Given the description of an element on the screen output the (x, y) to click on. 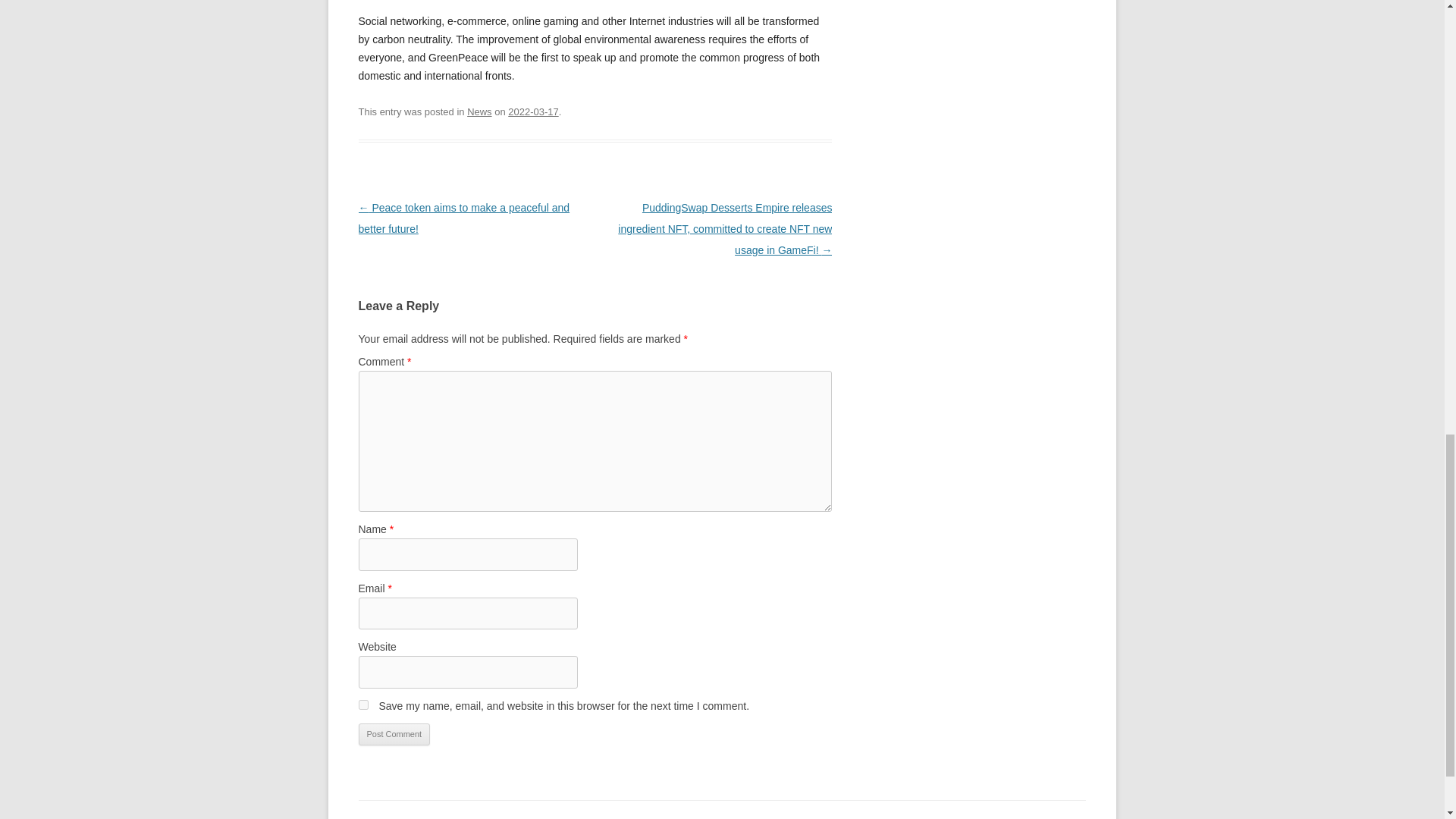
News (479, 111)
15:03 (532, 111)
yes (363, 705)
Post Comment (393, 734)
2022-03-17 (532, 111)
Post Comment (393, 734)
